Given the description of an element on the screen output the (x, y) to click on. 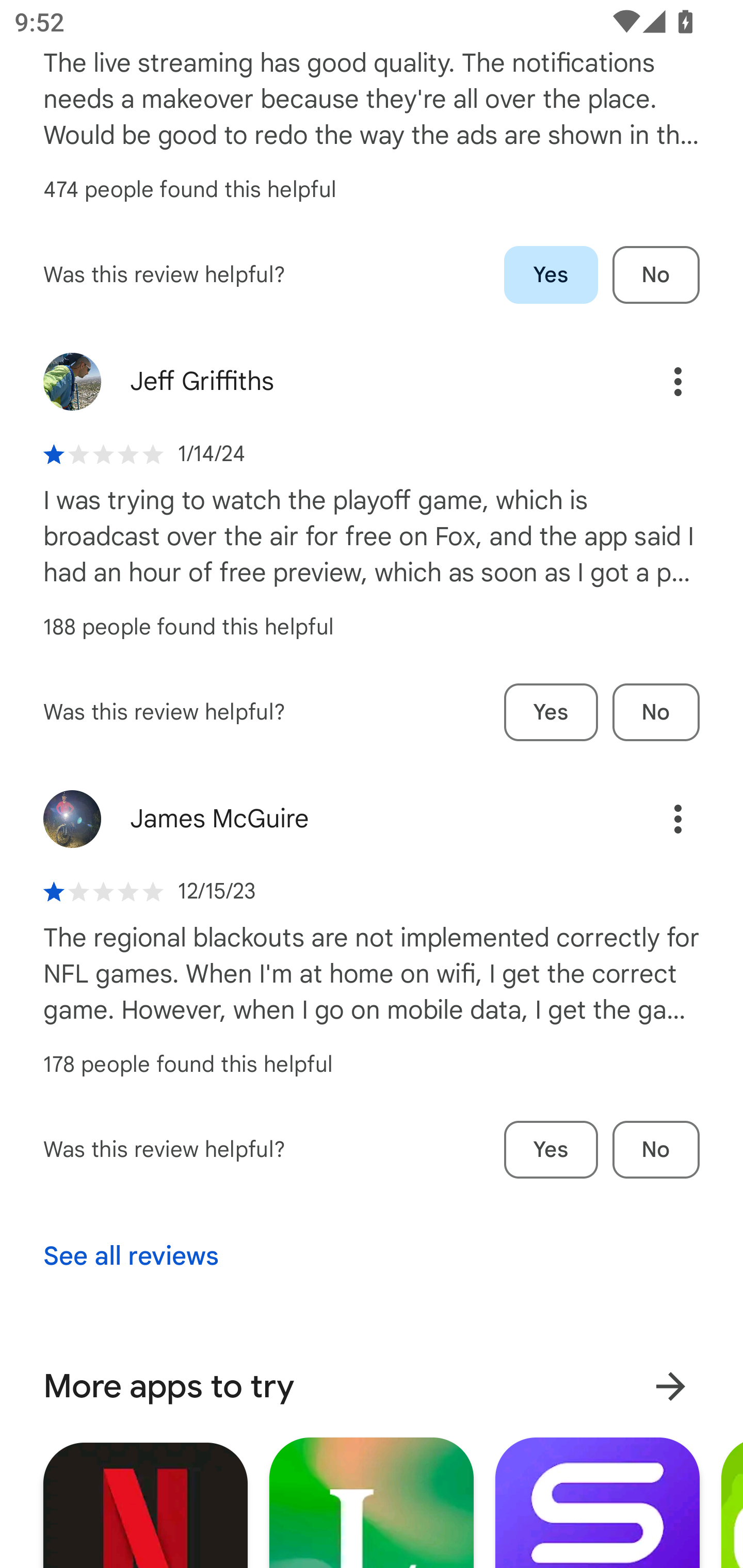
Yes (550, 275)
No (655, 275)
Options (655, 381)
Yes (550, 712)
No (655, 712)
Options (655, 819)
Yes (550, 1150)
No (655, 1150)
See all reviews (130, 1256)
More apps to try More results for More apps to try (371, 1385)
More results for More apps to try (670, 1386)
